Given the description of an element on the screen output the (x, y) to click on. 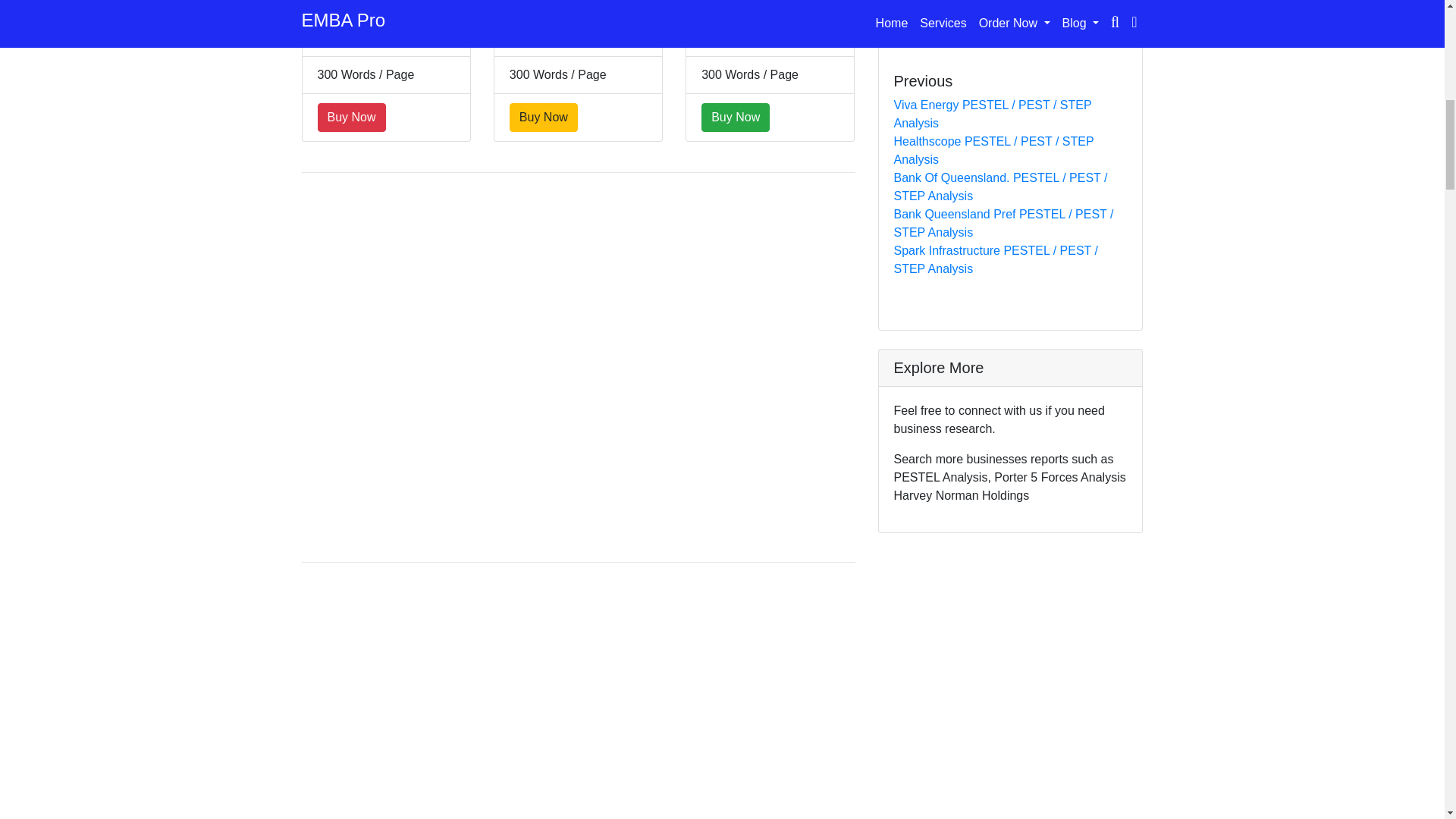
Buy Now (351, 117)
Advertisement (578, 698)
